Given the description of an element on the screen output the (x, y) to click on. 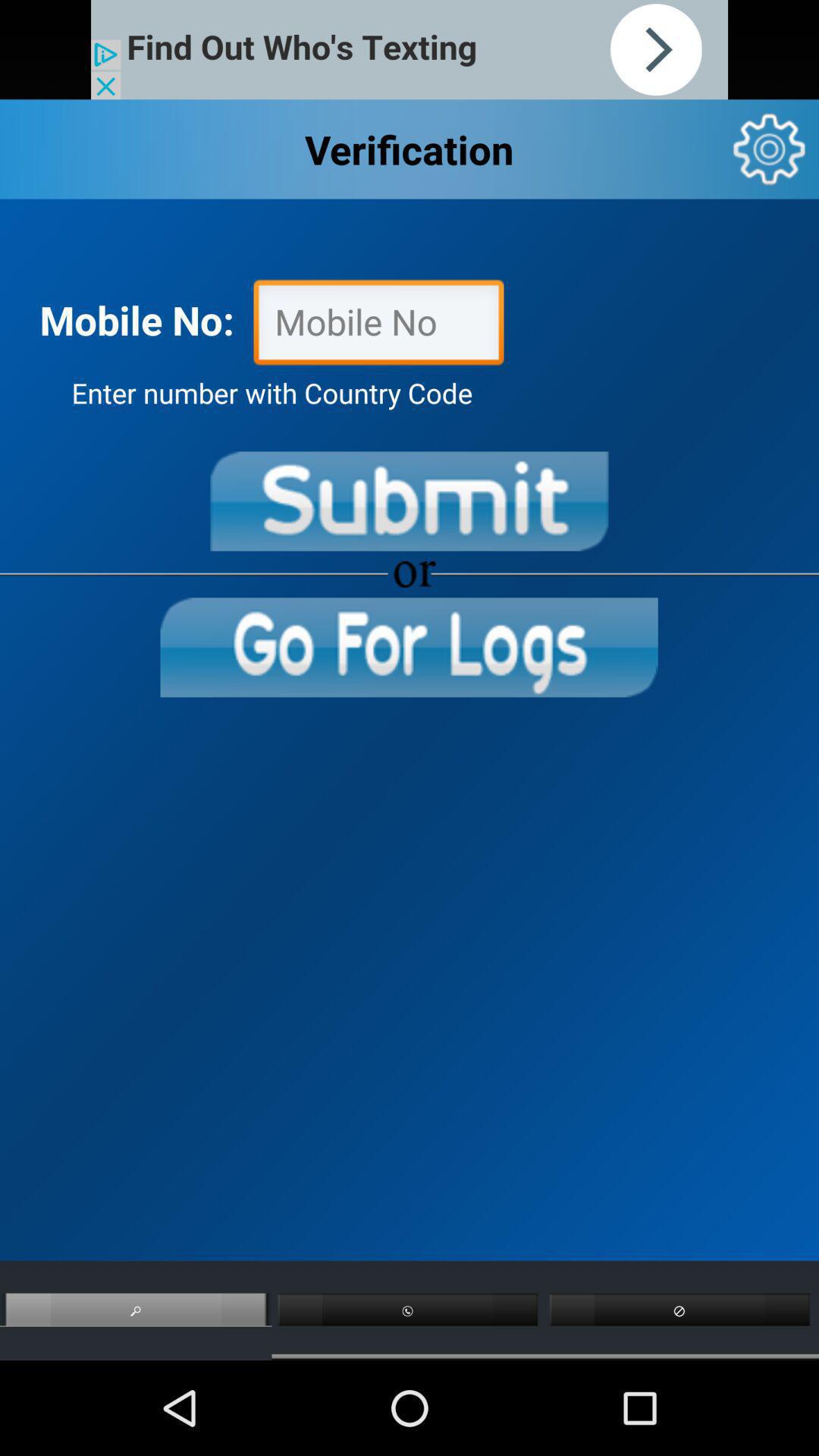
advertisement (409, 49)
